Given the description of an element on the screen output the (x, y) to click on. 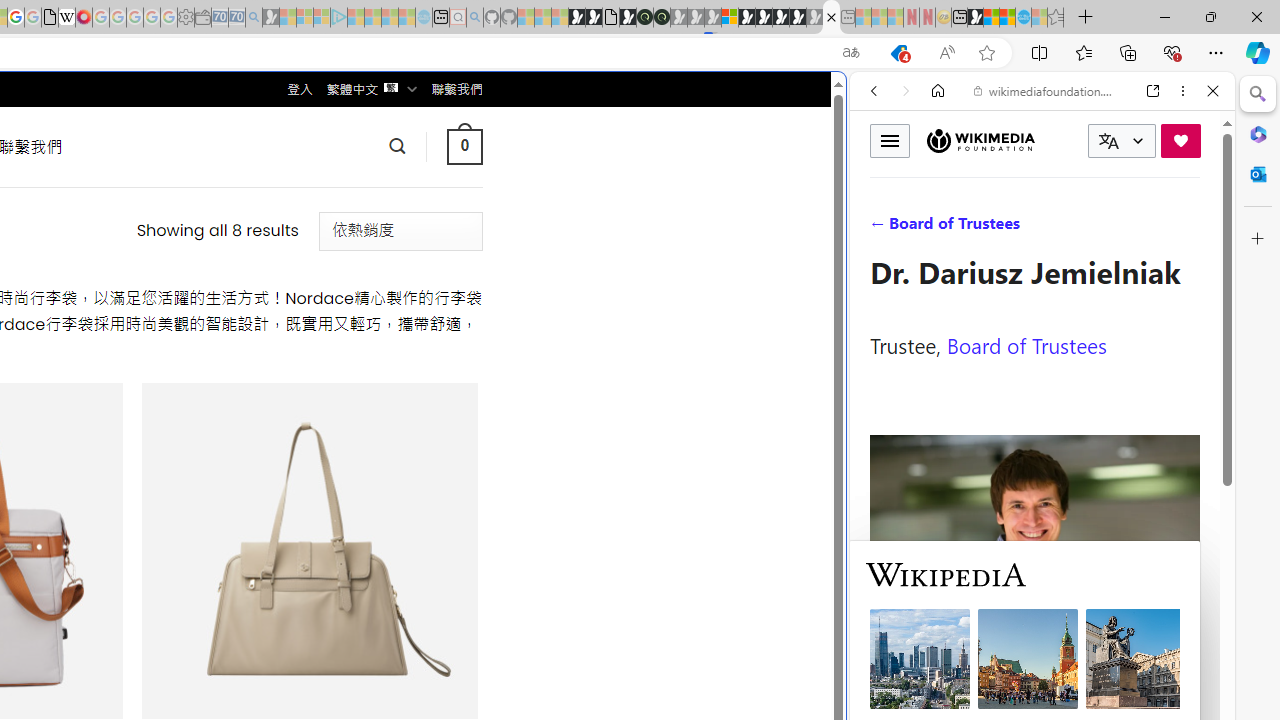
wikimediafoundation.org (1045, 90)
Toggle menu (890, 140)
Search or enter web address (343, 191)
